Given the description of an element on the screen output the (x, y) to click on. 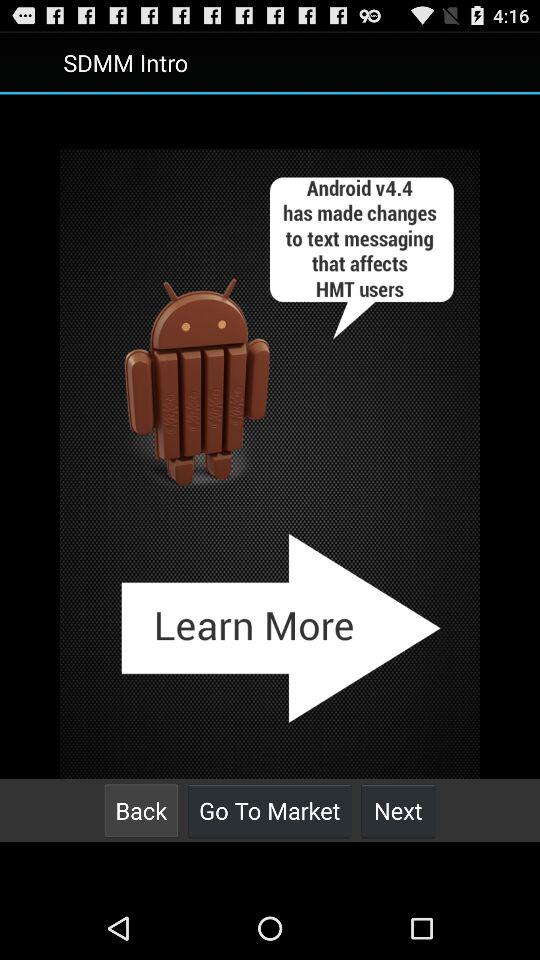
launch next icon (398, 810)
